Given the description of an element on the screen output the (x, y) to click on. 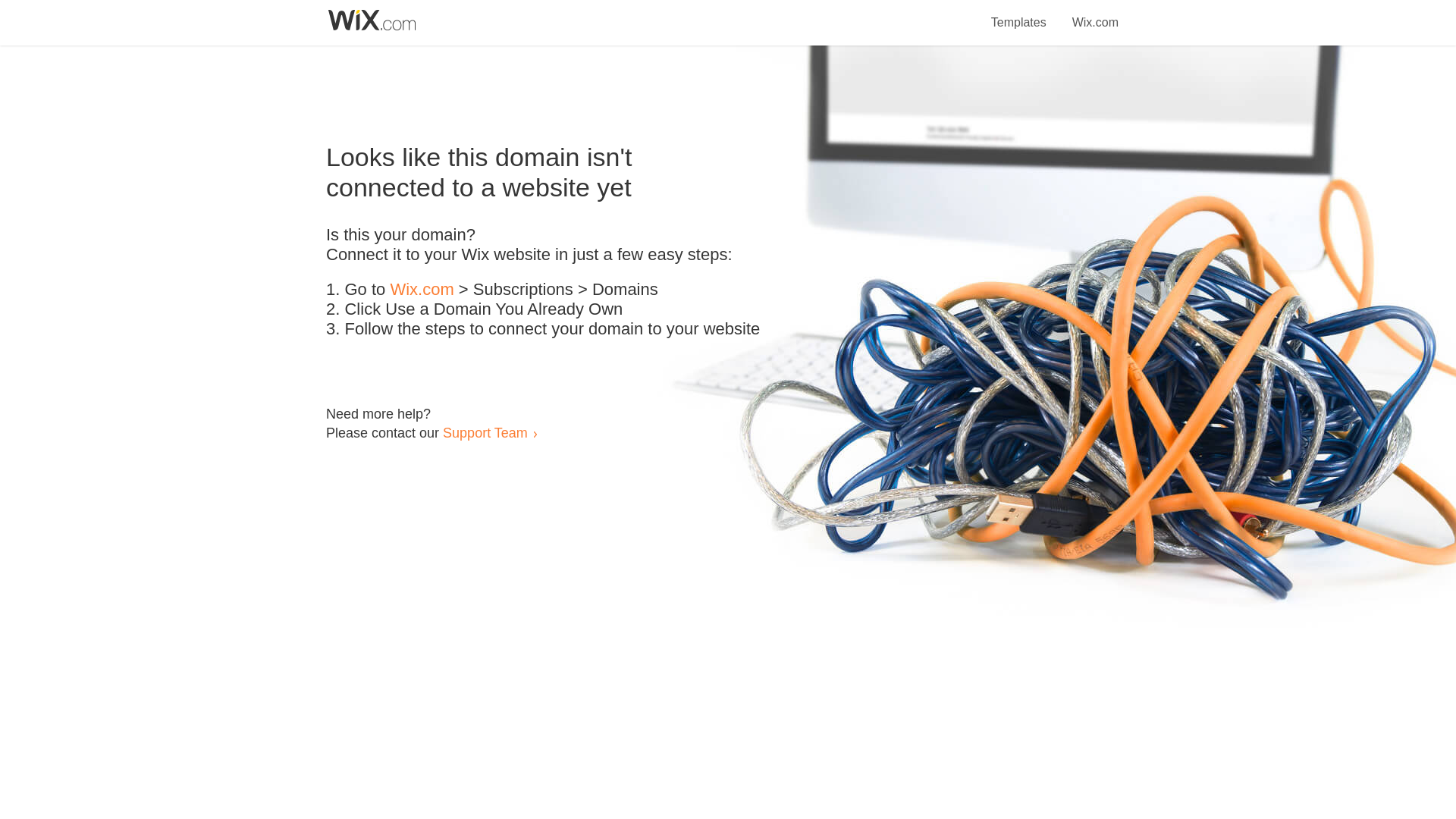
Wix.com (1095, 14)
Wix.com (421, 289)
Templates (1018, 14)
Support Team (484, 432)
